Given the description of an element on the screen output the (x, y) to click on. 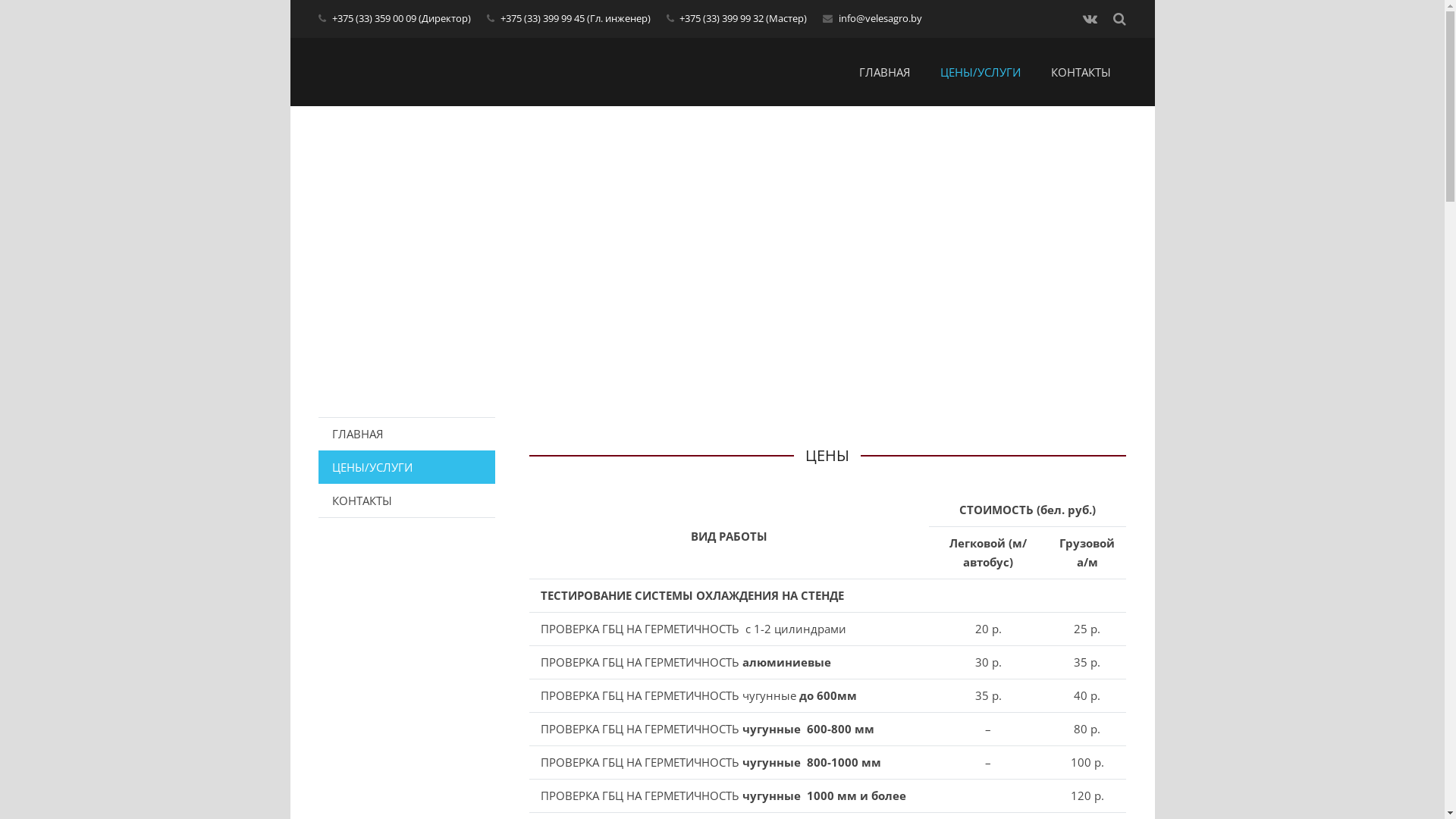
info@velesagro.by Element type: text (880, 18)
